Given the description of an element on the screen output the (x, y) to click on. 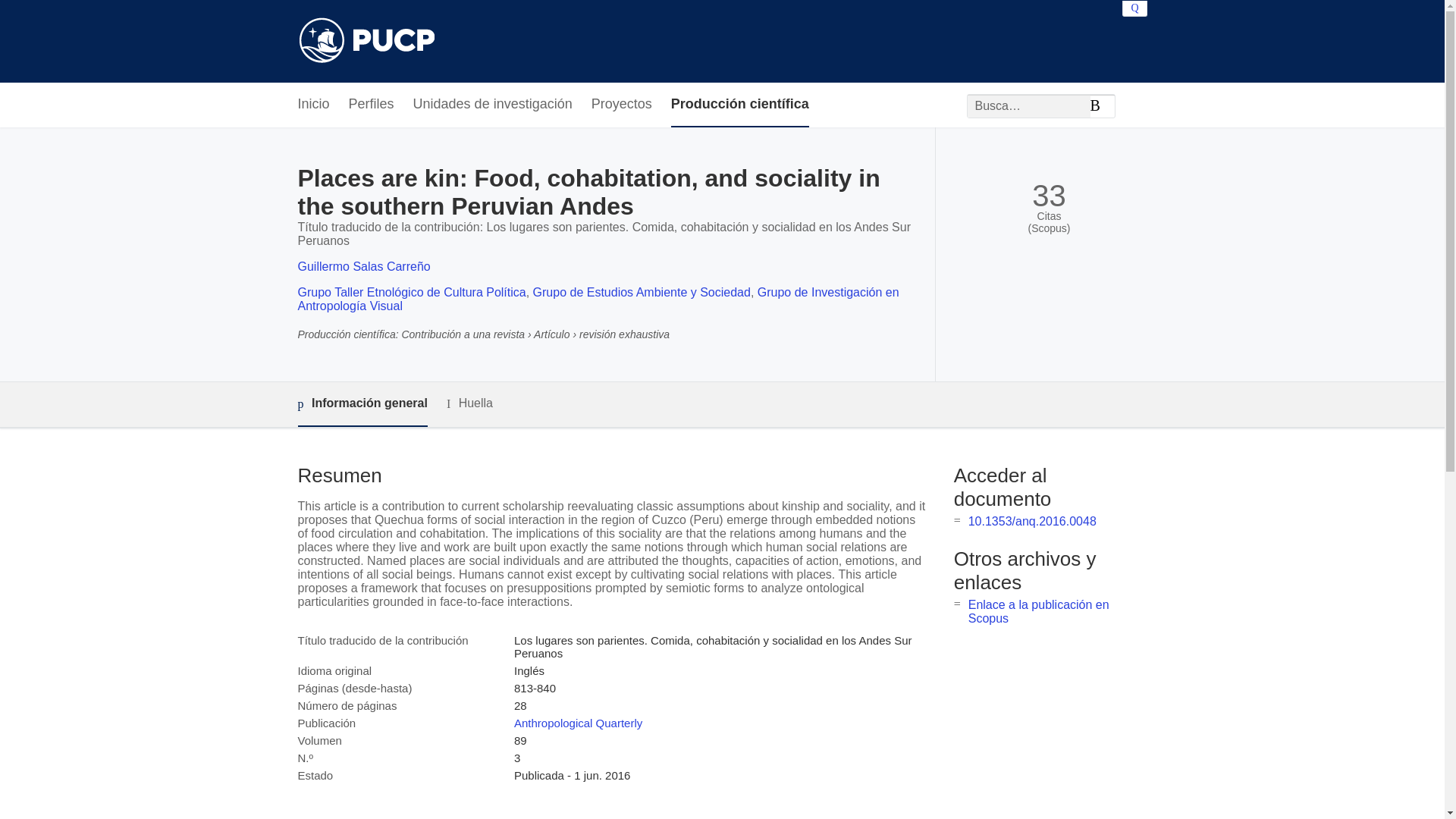
Perfiles (371, 104)
Grupo de Estudios Ambiente y Sociedad (641, 291)
Anthropological Quarterly (577, 722)
Inicio (313, 104)
Proyectos (621, 104)
Huella (469, 403)
